Given the description of an element on the screen output the (x, y) to click on. 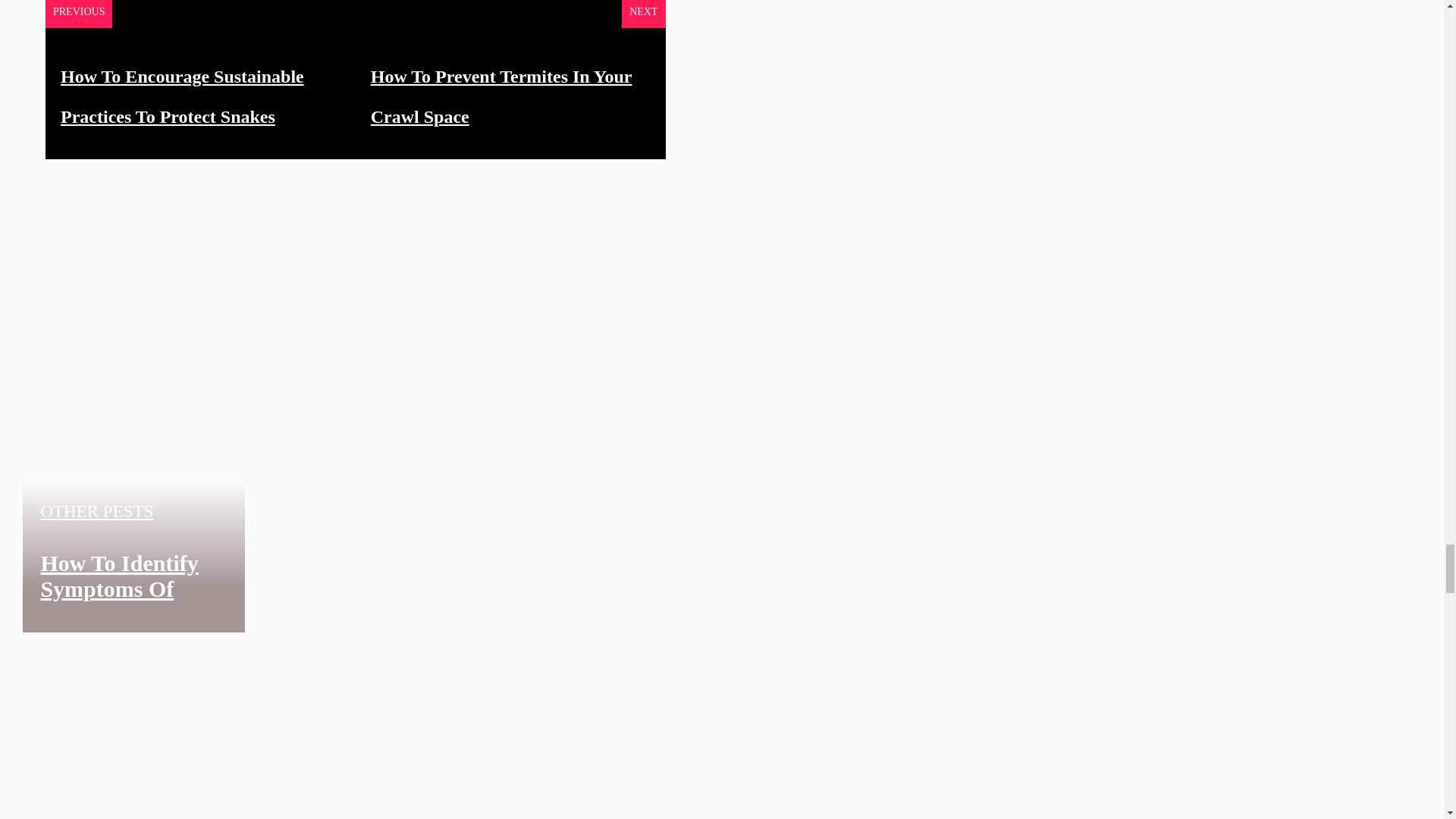
OTHER PESTS (96, 511)
How To Prevent Termites In Your Crawl Space (501, 96)
How To Identify Symptoms Of Chikungunya From Mosquito Bites (119, 615)
How To Encourage Sustainable Practices To Protect Snakes (182, 96)
